Given the description of an element on the screen output the (x, y) to click on. 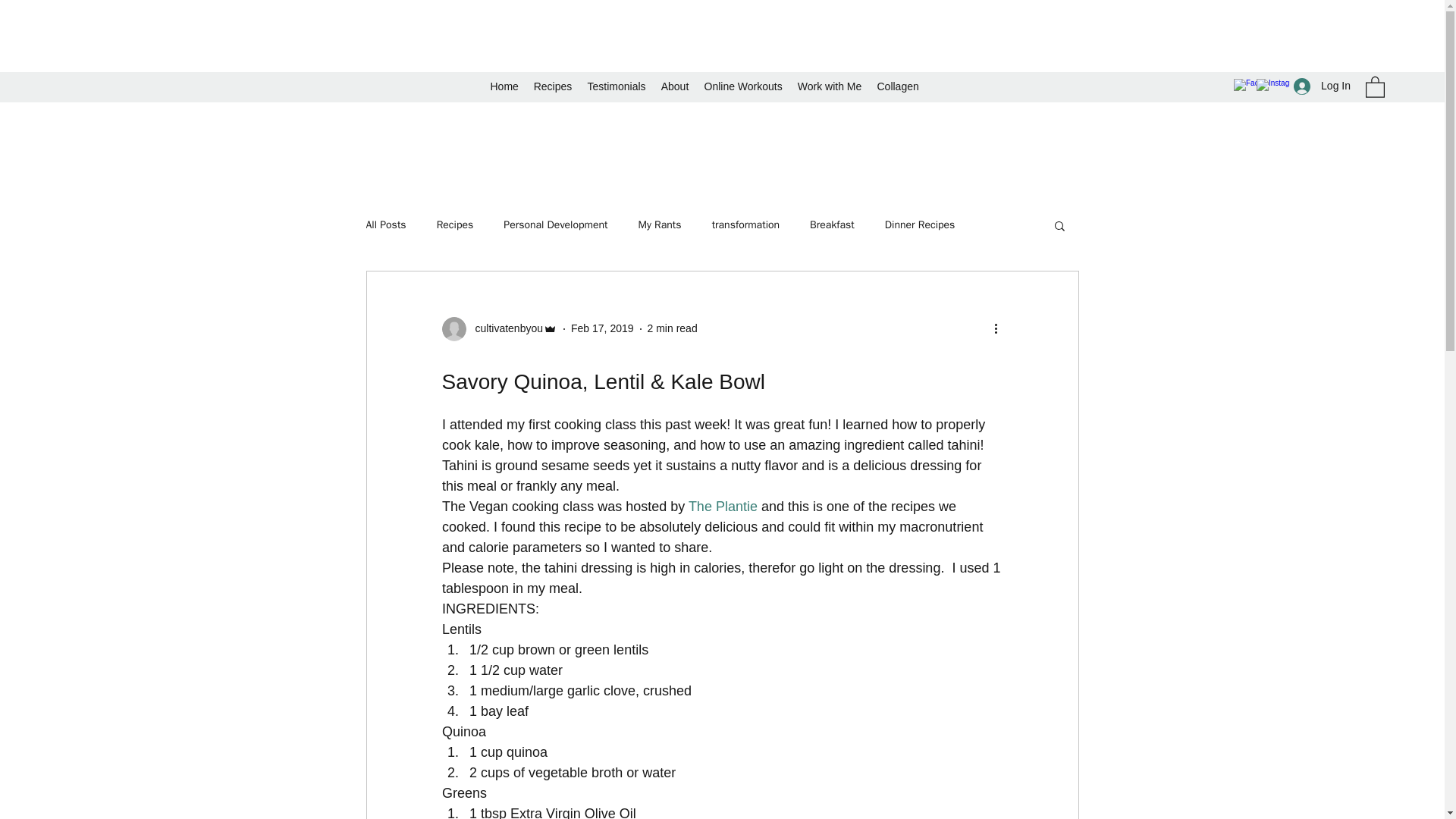
Personal Development (555, 224)
Testimonials (615, 86)
Breakfast (831, 224)
About (675, 86)
Online Workouts (742, 86)
Work with Me (829, 86)
transformation (744, 224)
All Posts (385, 224)
My Rants (660, 224)
cultivatenbyou (504, 328)
